Given the description of an element on the screen output the (x, y) to click on. 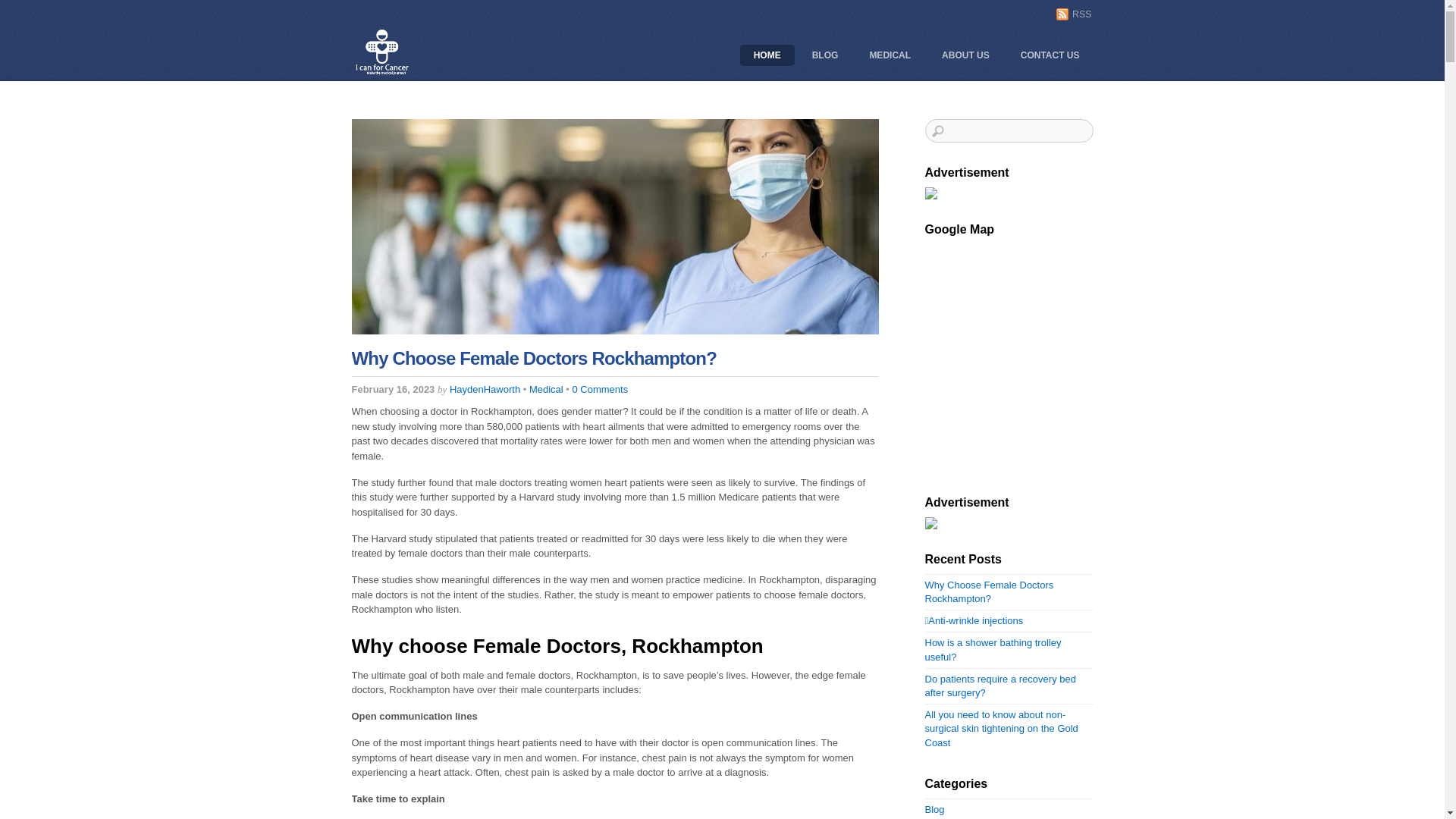
ABOUT US Element type: text (965, 54)
Blog Element type: text (934, 809)
CONTACT US Element type: text (1050, 54)
I can for Cancer Element type: hover (381, 72)
0 Comments Element type: text (599, 389)
Do patients require a recovery bed after surgery? Element type: text (1000, 685)
How is a shower bathing trolley useful? Element type: text (993, 649)
HaydenHaworth Element type: text (484, 389)
Medical Element type: text (546, 389)
I can for Cancer Element type: hover (381, 51)
BLOG Element type: text (825, 54)
Search Element type: hover (1009, 130)
Why Choose Female Doctors Rockhampton? Element type: text (989, 591)
Why Choose Female Doctors Rockhampton? Element type: text (533, 358)
RSS Element type: text (1073, 13)
HOME Element type: text (767, 54)
MEDICAL Element type: text (889, 54)
